Given the description of an element on the screen output the (x, y) to click on. 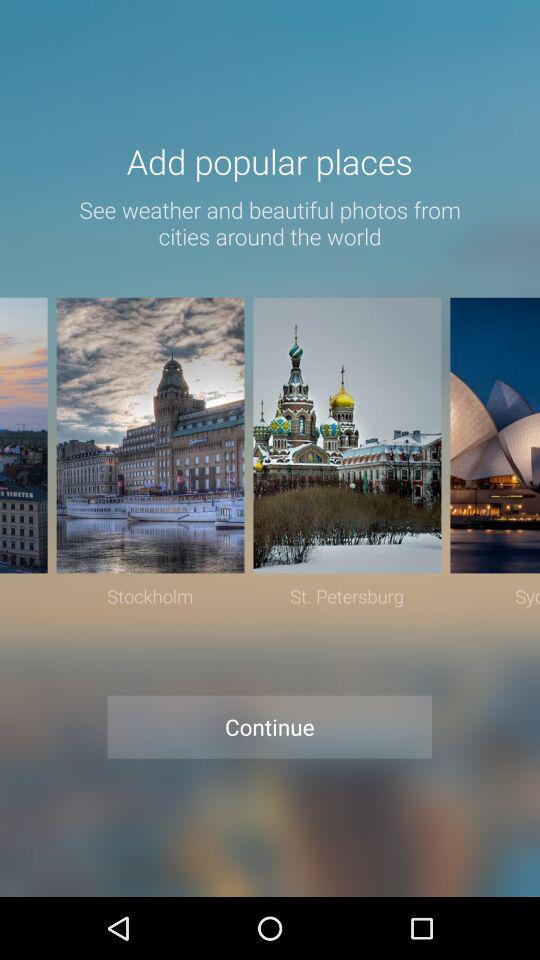
scroll until continue icon (269, 726)
